Given the description of an element on the screen output the (x, y) to click on. 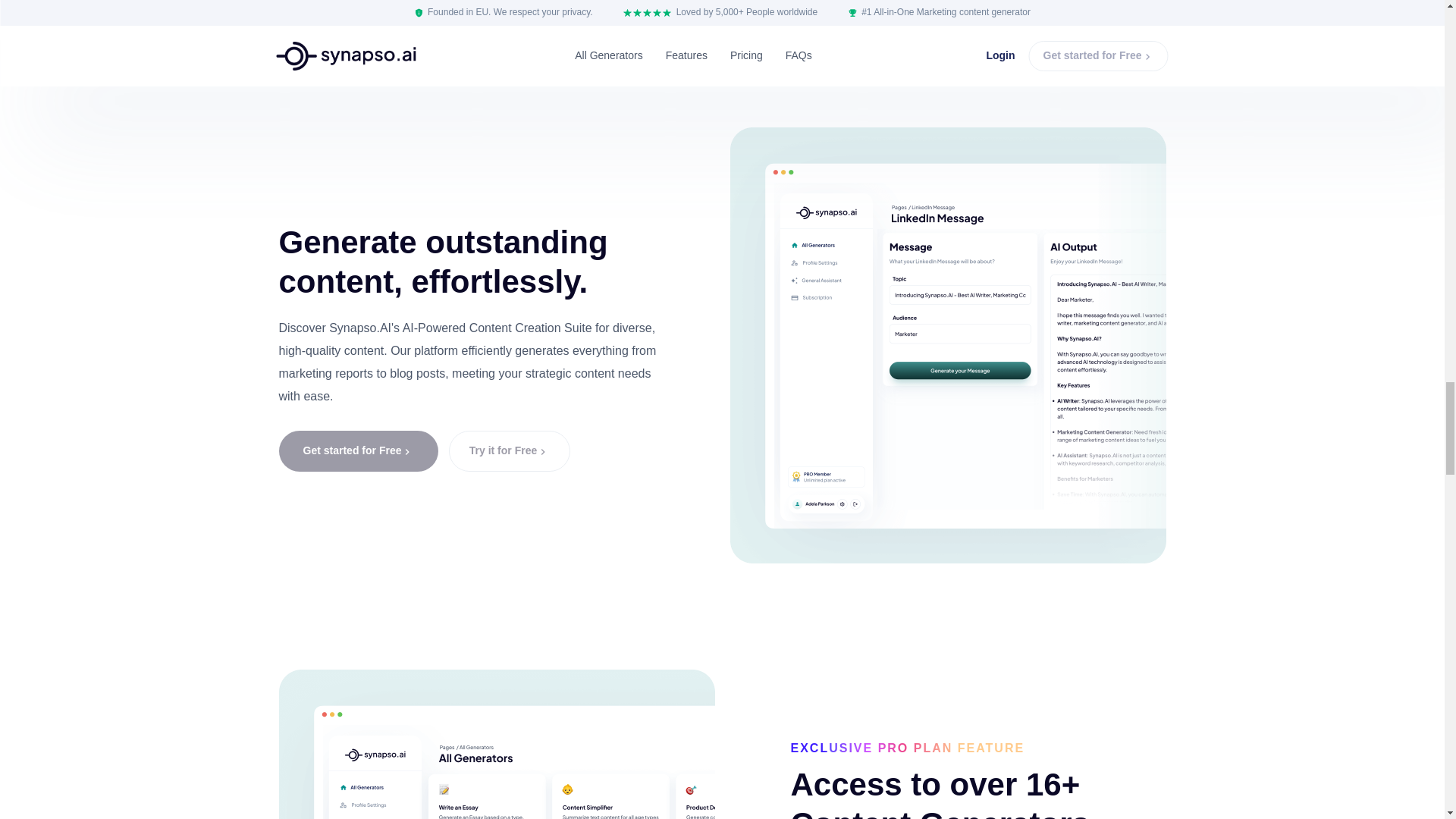
Get started for Free (358, 450)
